Given the description of an element on the screen output the (x, y) to click on. 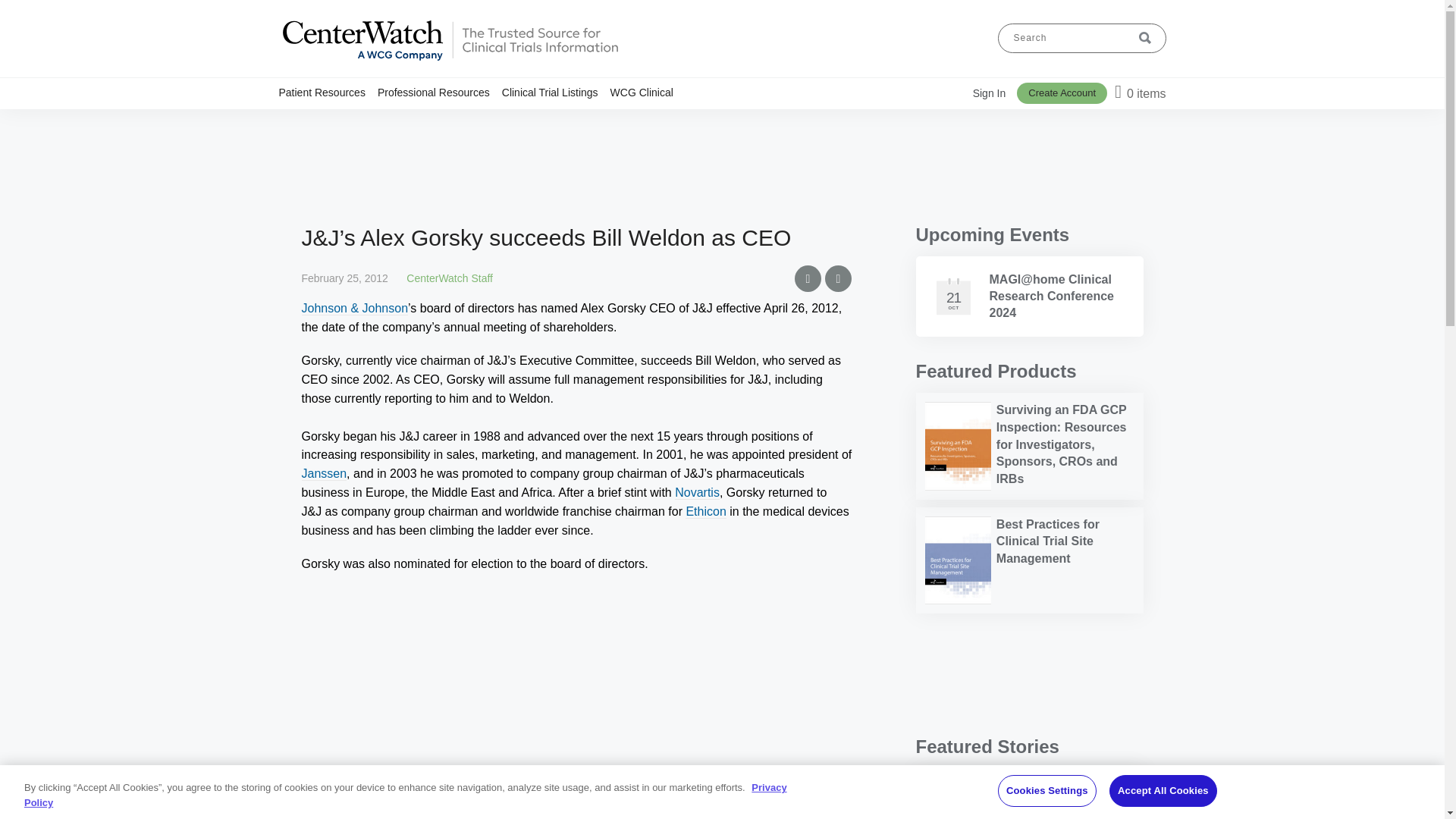
3rd party ad content (721, 165)
Clinical Trial Listings (354, 121)
FDA Approved Drugs (372, 121)
Professional Resources (439, 91)
Become a Clinical Trial Volunteer (365, 127)
3rd party ad content (1028, 673)
CenterWatch Logo (449, 60)
Patient Resources (328, 91)
Jonathan Seltzer (957, 798)
What are Clinical Trials? (360, 121)
Submit (1144, 37)
